Given the description of an element on the screen output the (x, y) to click on. 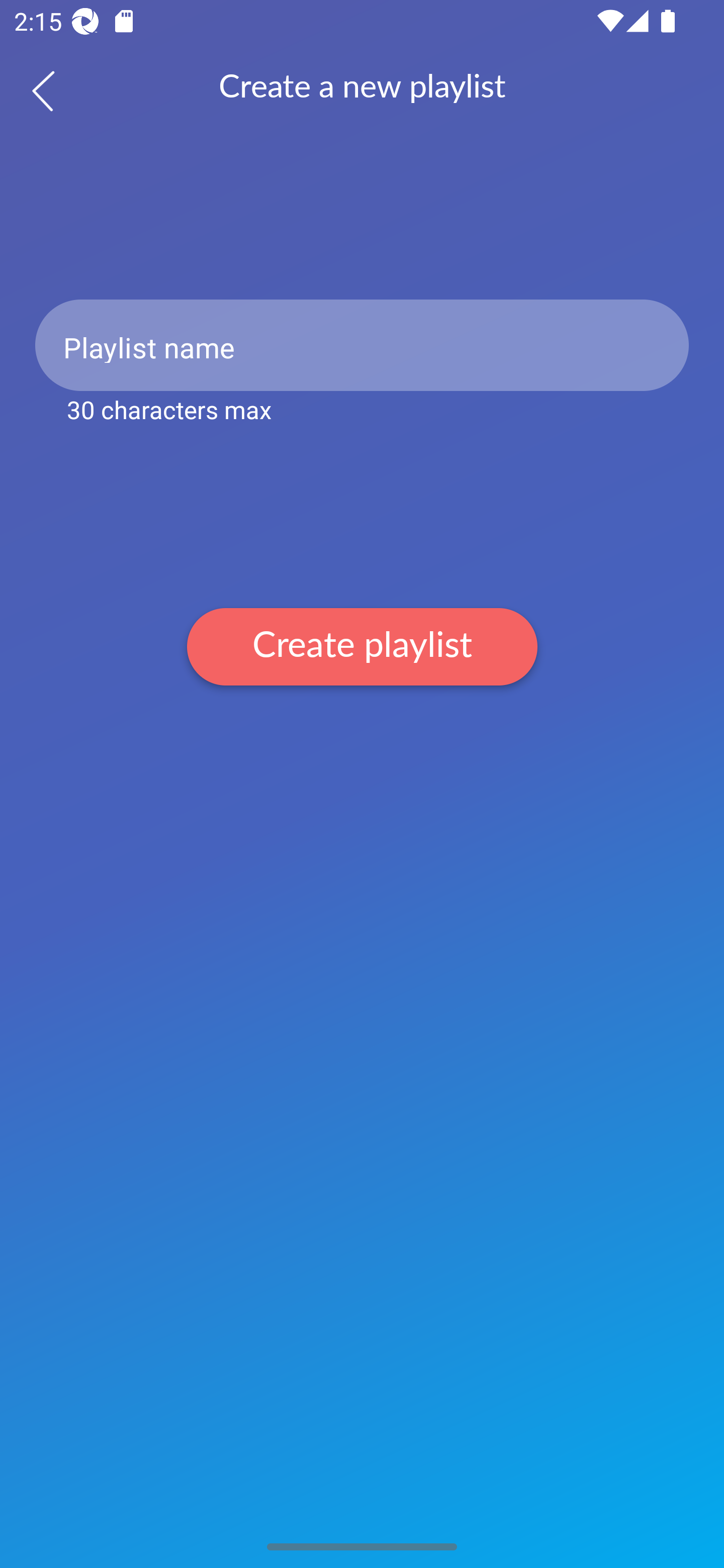
Playlist name (361, 344)
Create playlist (362, 646)
